Given the description of an element on the screen output the (x, y) to click on. 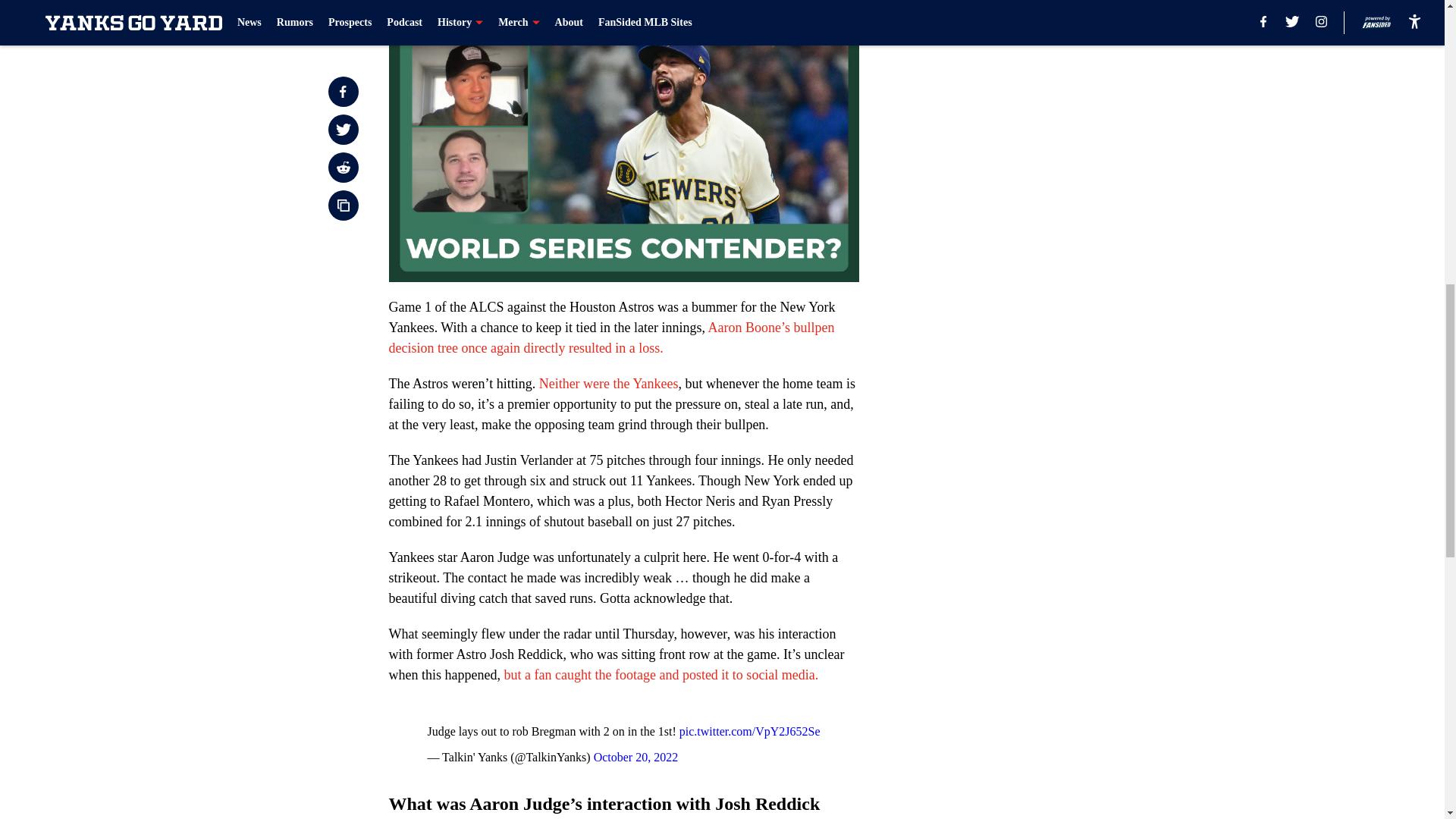
but a fan caught the footage and posted it to social media. (660, 674)
Neither were the Yankees (608, 383)
October 20, 2022 (636, 757)
